Given the description of an element on the screen output the (x, y) to click on. 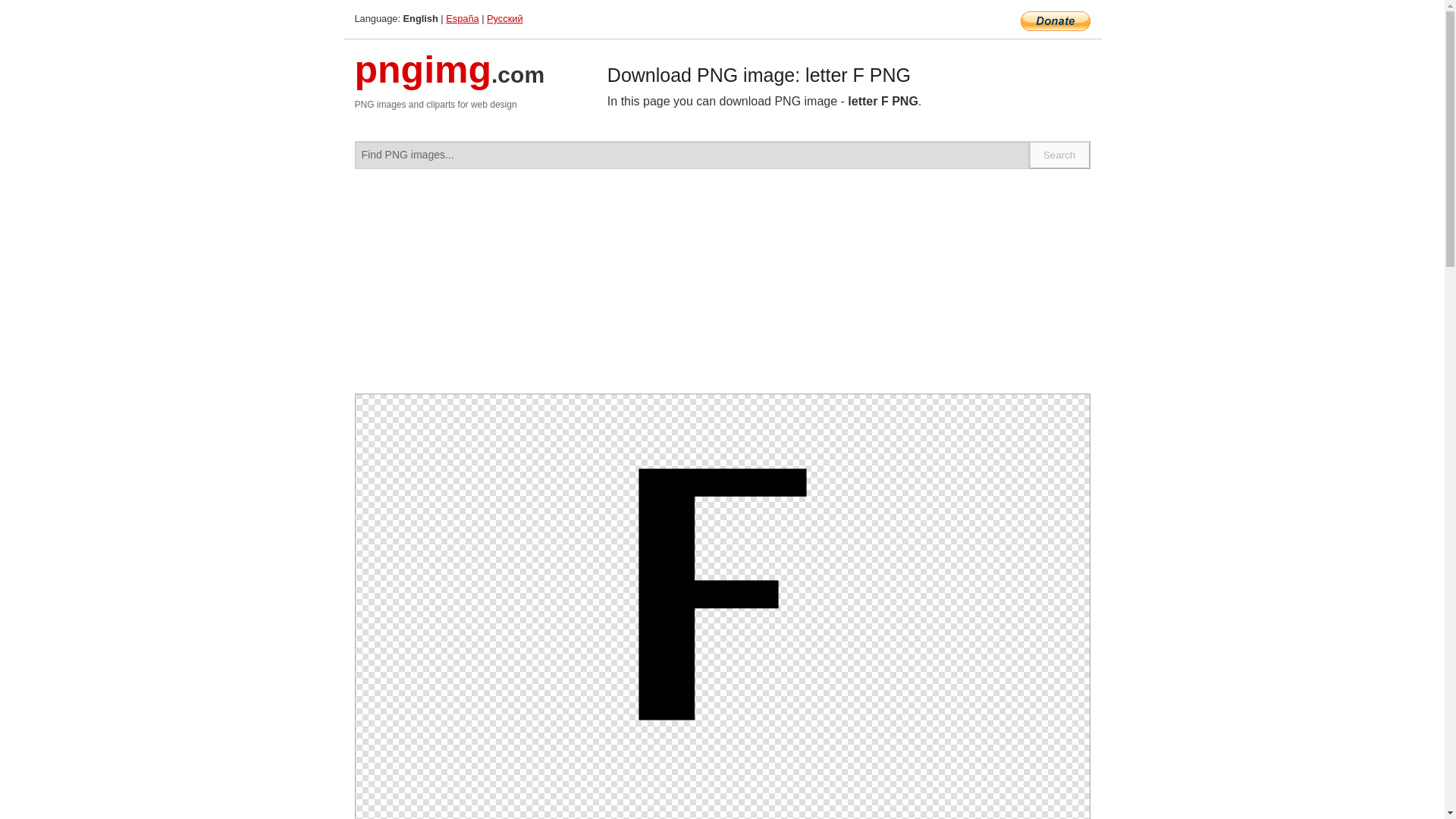
Search (1059, 154)
Search (1059, 154)
pngimg.com (449, 78)
